Given the description of an element on the screen output the (x, y) to click on. 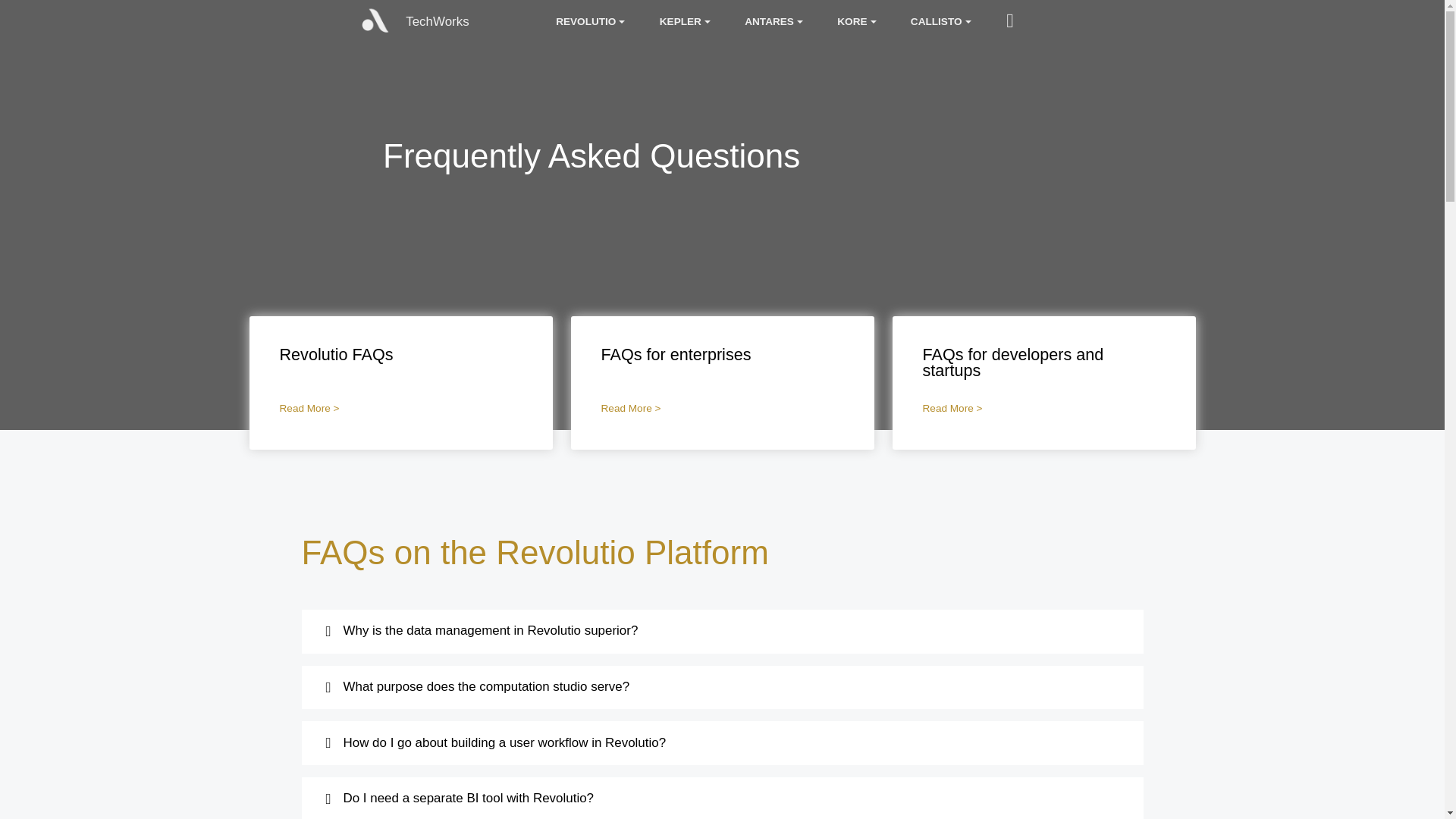
How do I go about building a user workflow in Revolutio? (722, 742)
Revolutio FAQs (336, 353)
REVOLUTIO (590, 21)
TechWorks (437, 21)
What purpose does the computation studio serve? (722, 687)
ANTARES (773, 21)
CALLISTO (941, 21)
FAQs for developers and startups (1012, 362)
Do I need a separate BI tool with Revolutio? (722, 798)
KEPLER (684, 21)
